Given the description of an element on the screen output the (x, y) to click on. 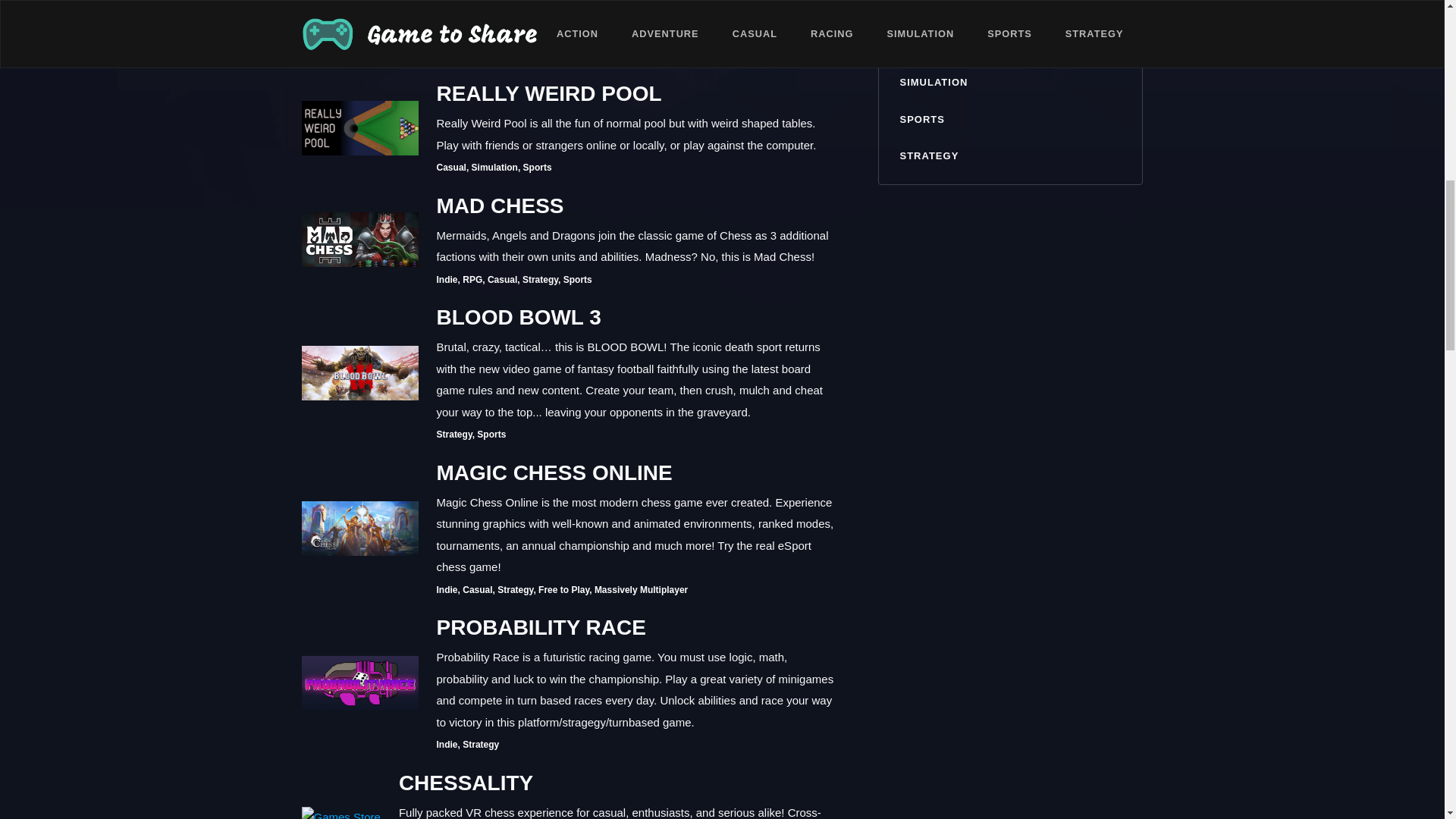
Sports (536, 167)
REALLY WEIRD POOL (636, 93)
Strategy (591, 55)
Sports (628, 55)
Simulation (494, 167)
Simulation (545, 55)
Indie (447, 55)
Casual (450, 167)
Casual (501, 55)
RPG (472, 55)
MAD CHESS (636, 205)
